Given the description of an element on the screen output the (x, y) to click on. 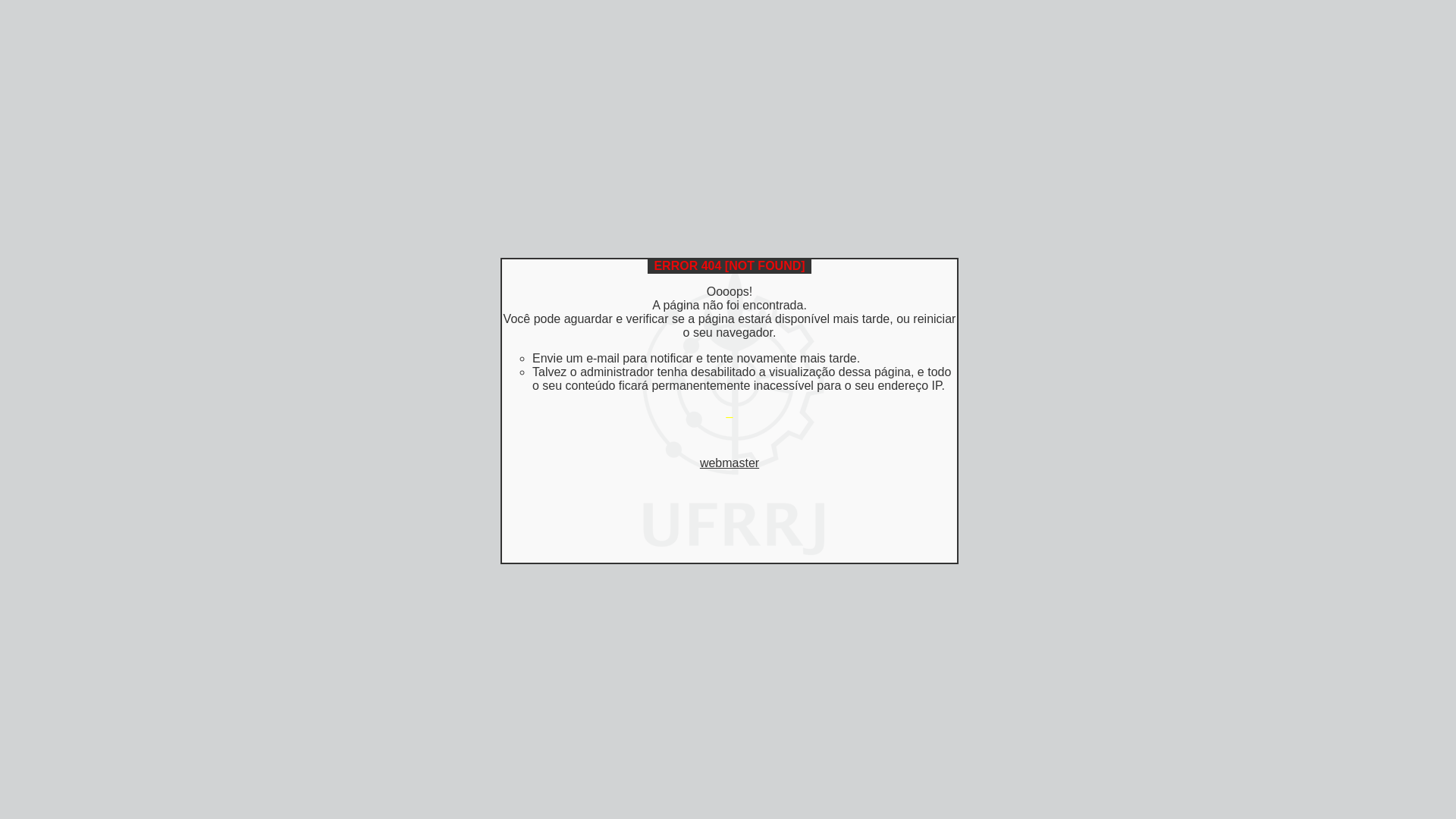
webmaster Element type: text (729, 462)
